Given the description of an element on the screen output the (x, y) to click on. 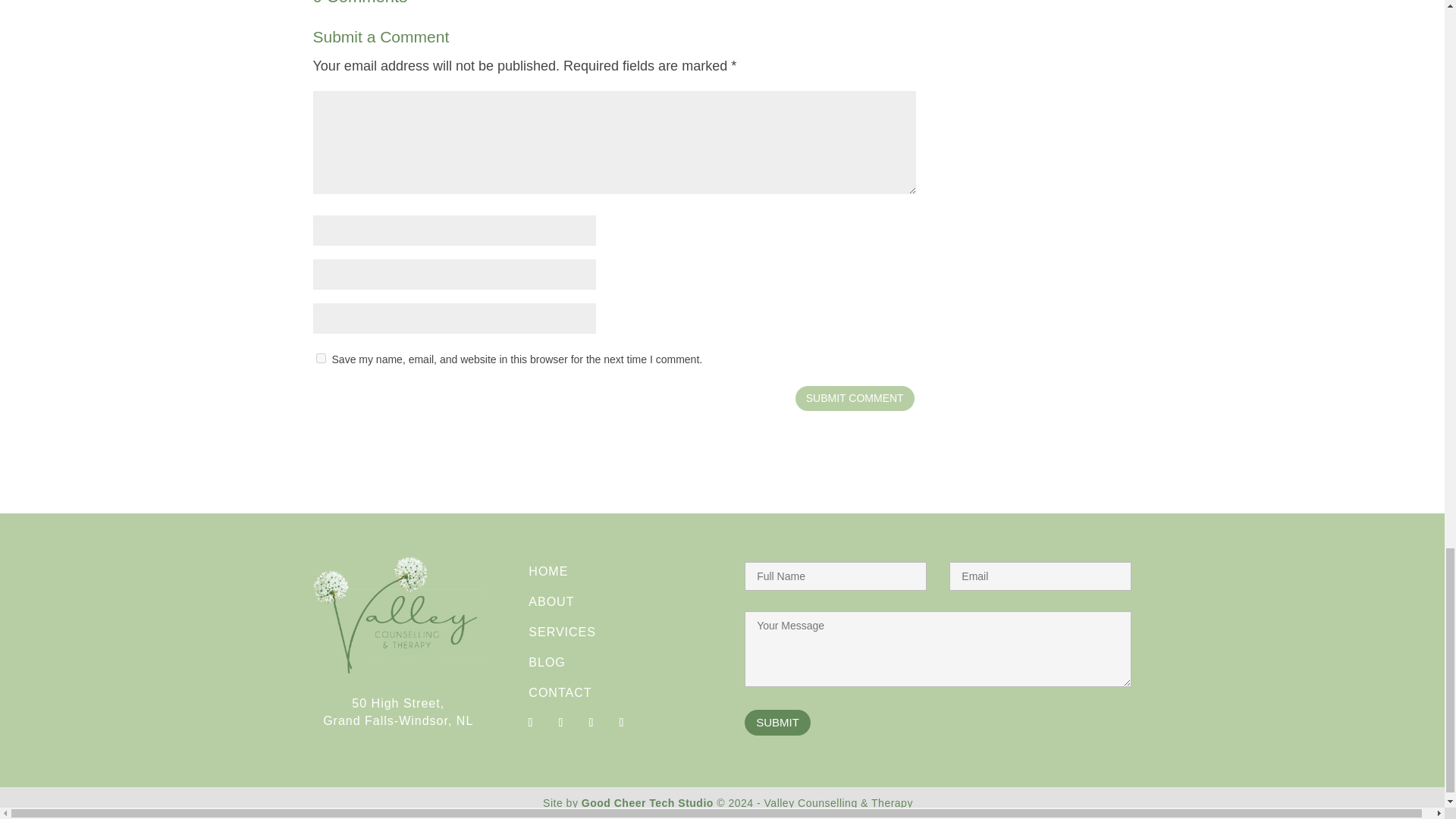
yes (319, 357)
SUBMIT (777, 723)
Follow on Instagram (560, 722)
Good Cheer Tech Studio (646, 802)
SUBMIT COMMENT (854, 397)
ABOUT (550, 601)
SERVICES (561, 631)
HOME (547, 571)
Follow on Facebook (529, 722)
CONTACT (559, 692)
BLOG (546, 662)
Follow on X (590, 722)
Follow on LinkedIn (620, 722)
